Given the description of an element on the screen output the (x, y) to click on. 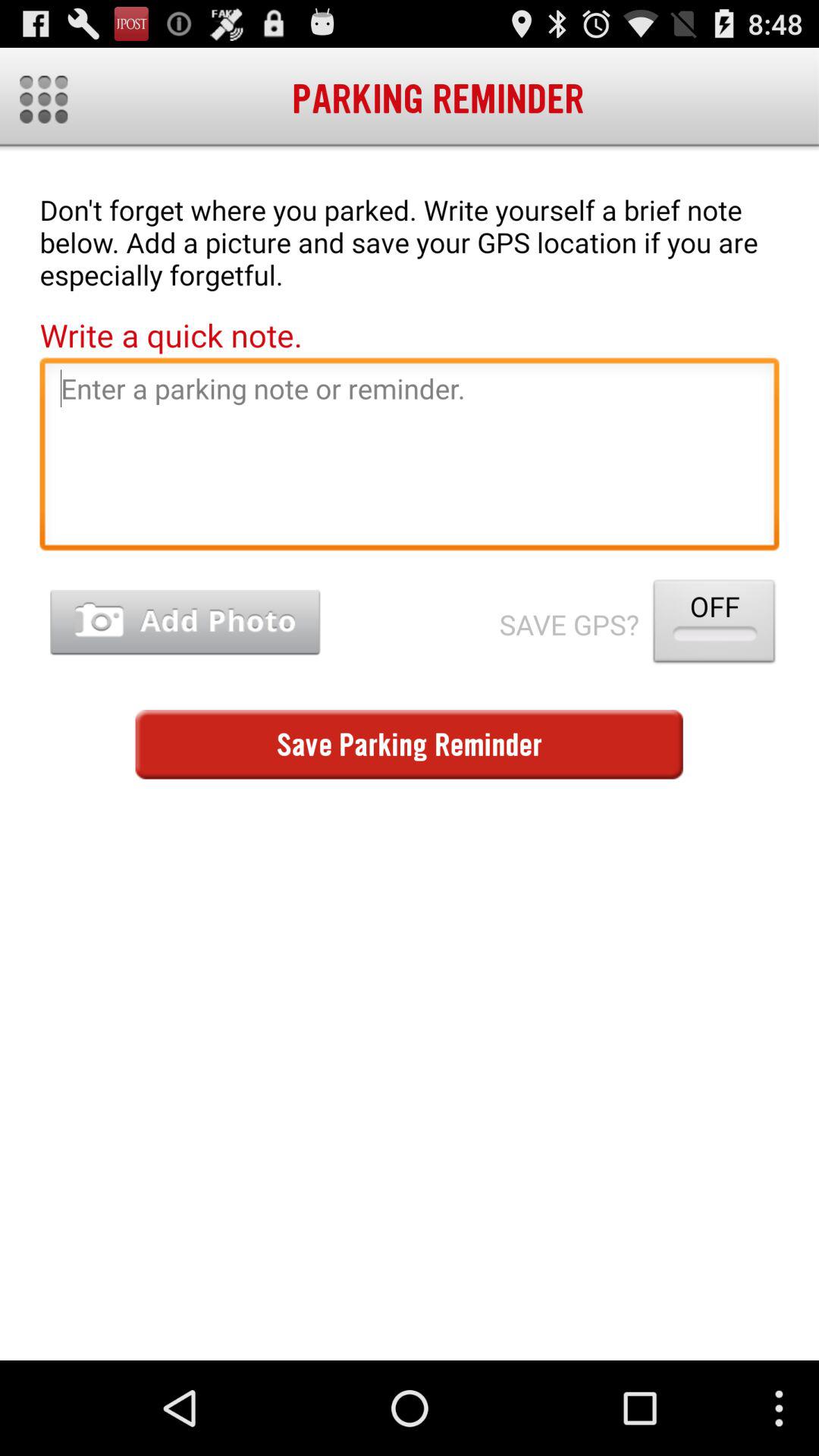
enter parking note or reminder (409, 457)
